Given the description of an element on the screen output the (x, y) to click on. 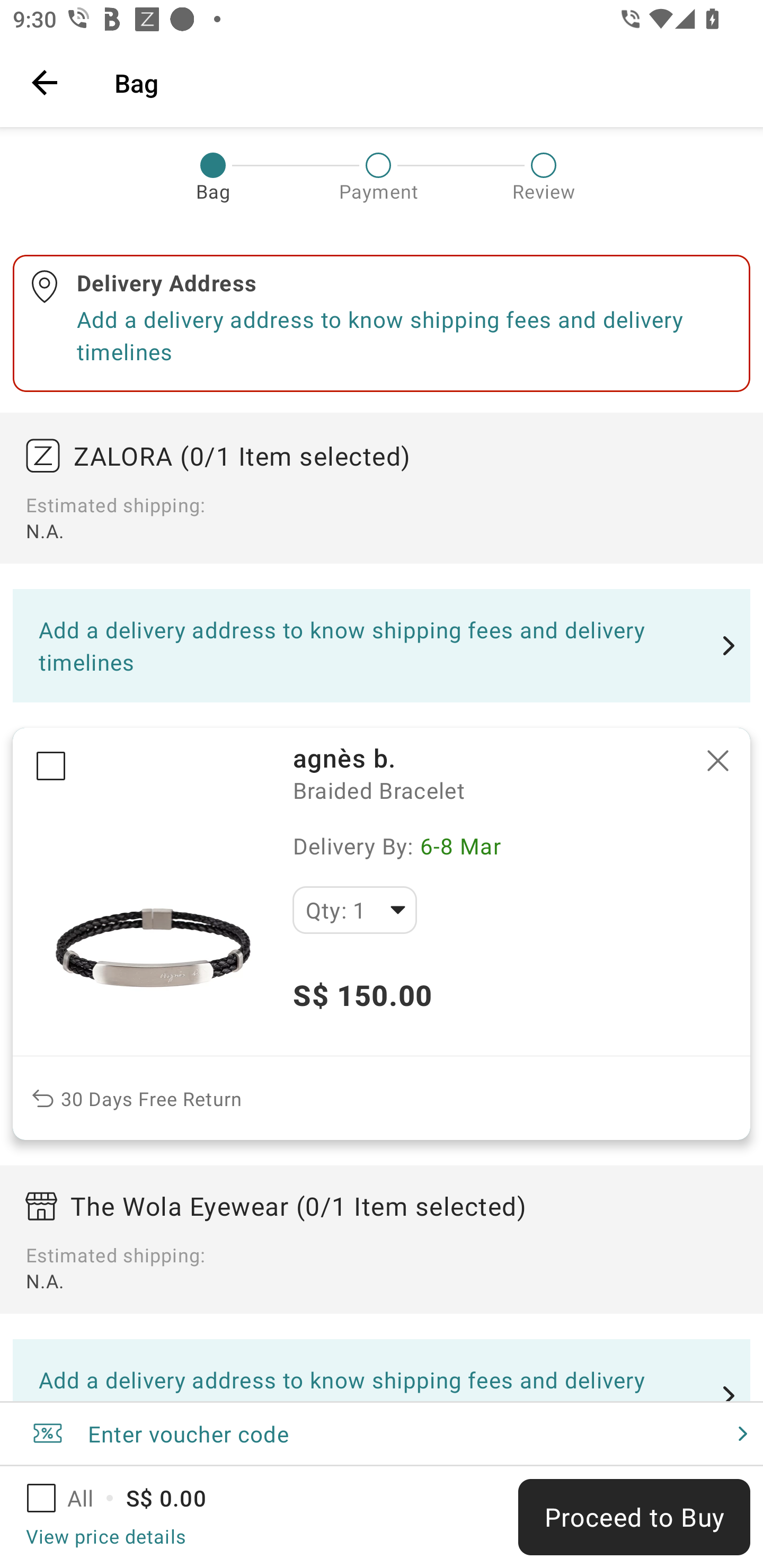
Navigate up (44, 82)
Bag (426, 82)
Qty: 1 (354, 909)
Enter voucher code (381, 1433)
All (72, 1497)
Proceed to Buy (634, 1516)
View price details (105, 1535)
